Given the description of an element on the screen output the (x, y) to click on. 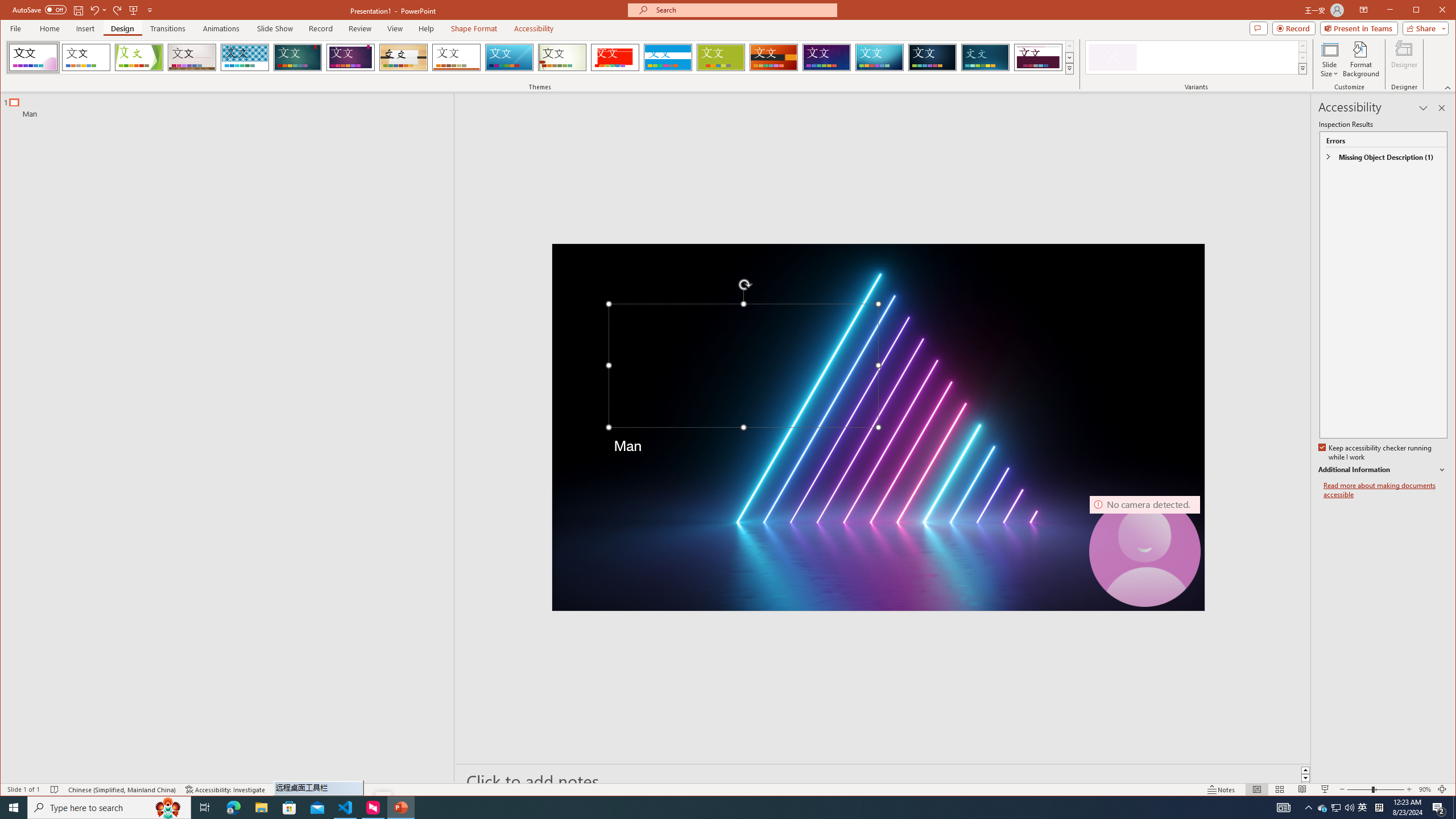
Basis (720, 57)
AutomationID: ThemeVariantsGallery (1196, 57)
Banded (668, 57)
Damask (932, 57)
Camera 7, No camera detected. (1145, 550)
